Given the description of an element on the screen output the (x, y) to click on. 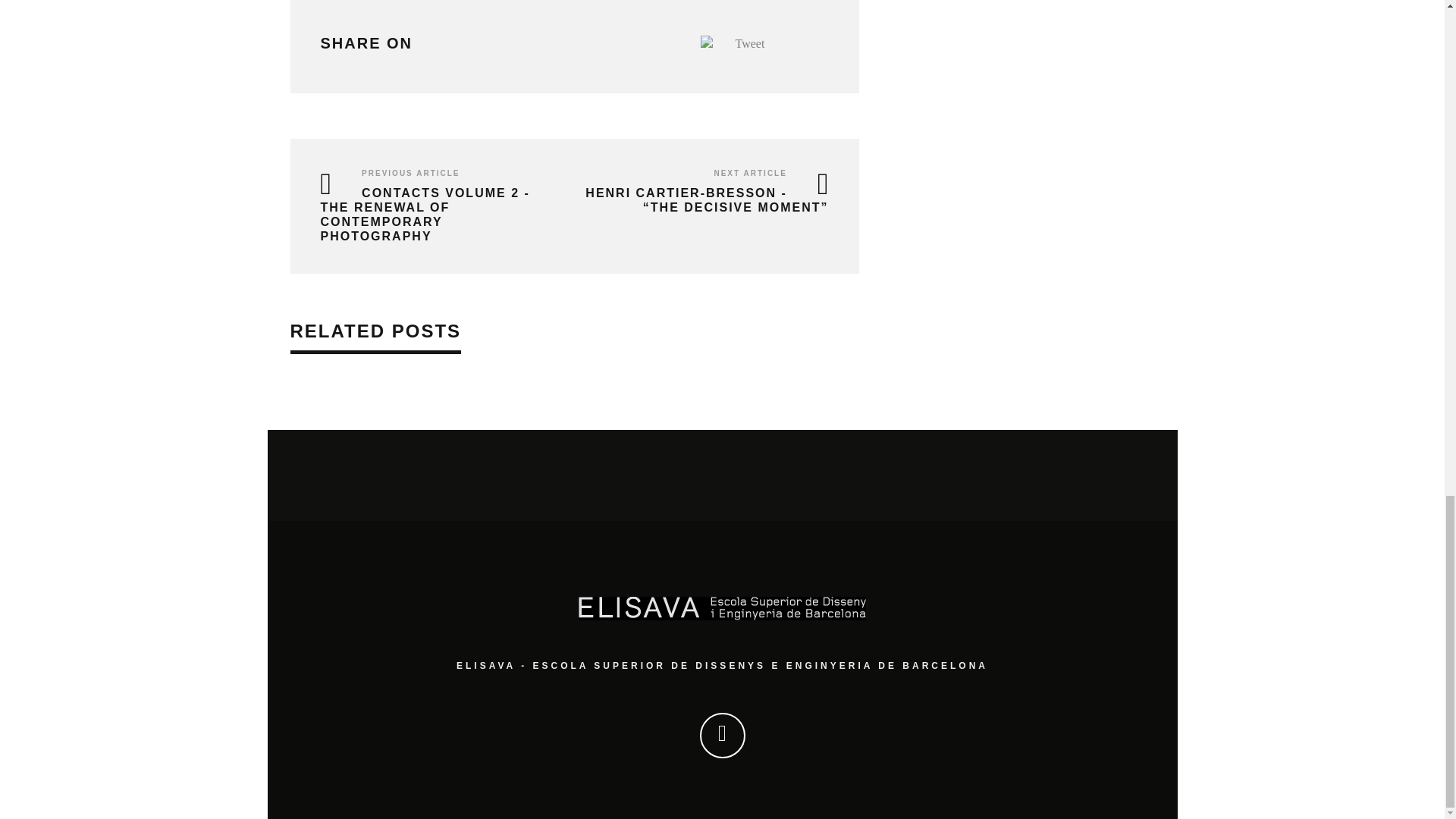
NEXT ARTICLE (749, 172)
PREVIOUS ARTICLE (410, 172)
CONTACTS VOLUME 2 - THE RENEWAL OF CONTEMPORARY PHOTOGRAPHY (424, 214)
Tweet (750, 42)
